Given the description of an element on the screen output the (x, y) to click on. 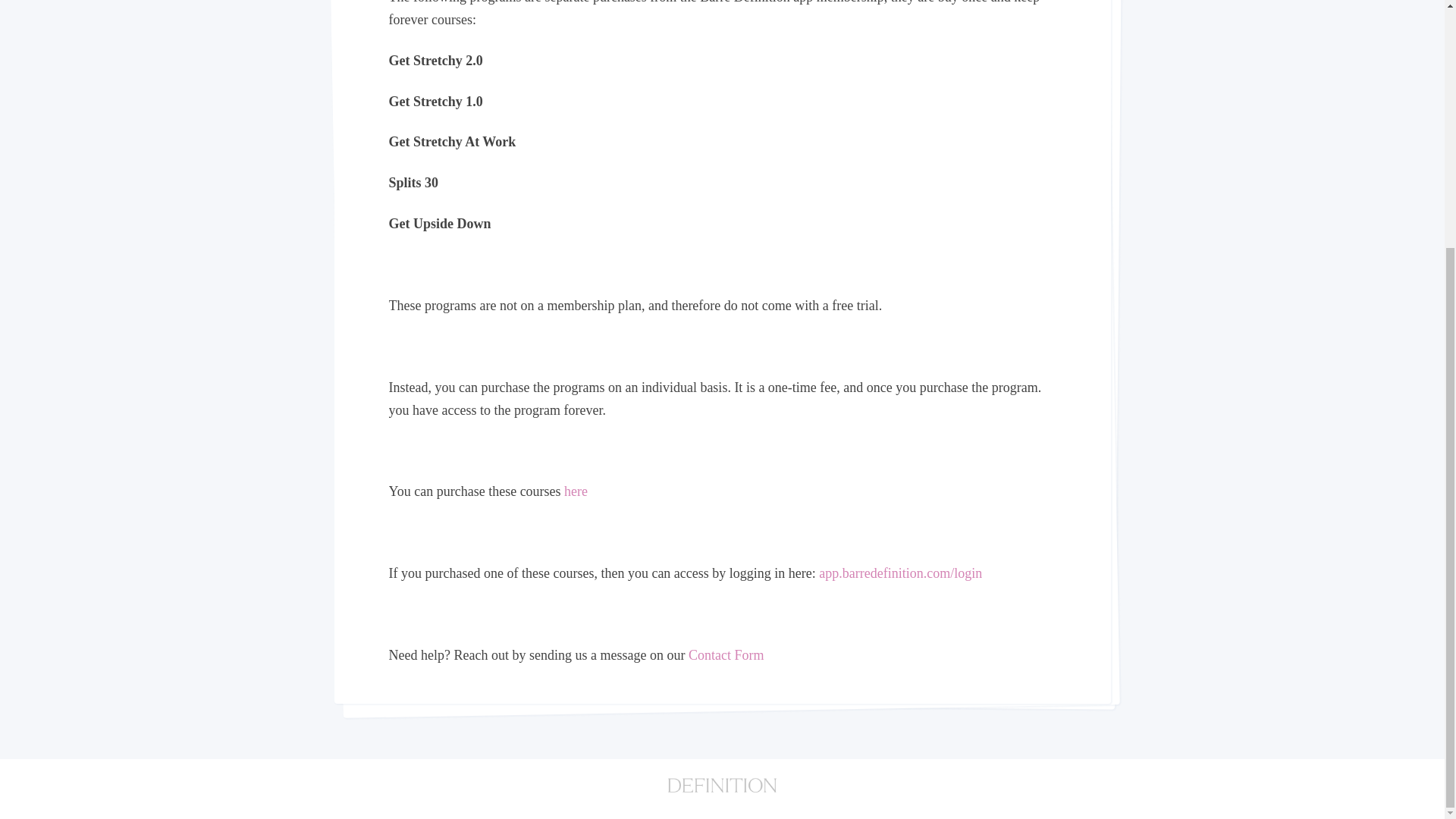
Contact Form (726, 654)
here (576, 491)
